Given the description of an element on the screen output the (x, y) to click on. 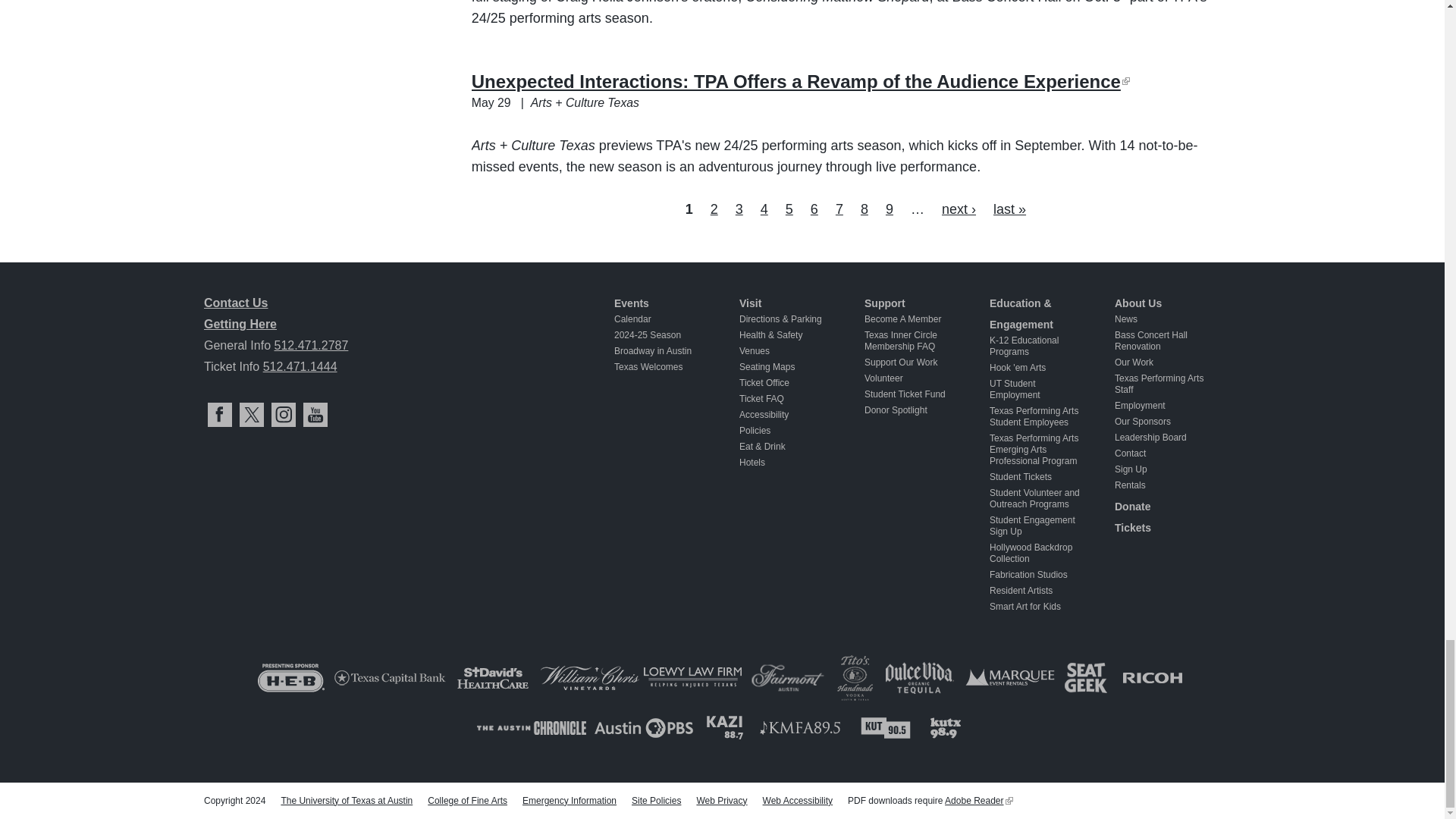
Go to last page (1009, 209)
Go to next page (958, 209)
